Given the description of an element on the screen output the (x, y) to click on. 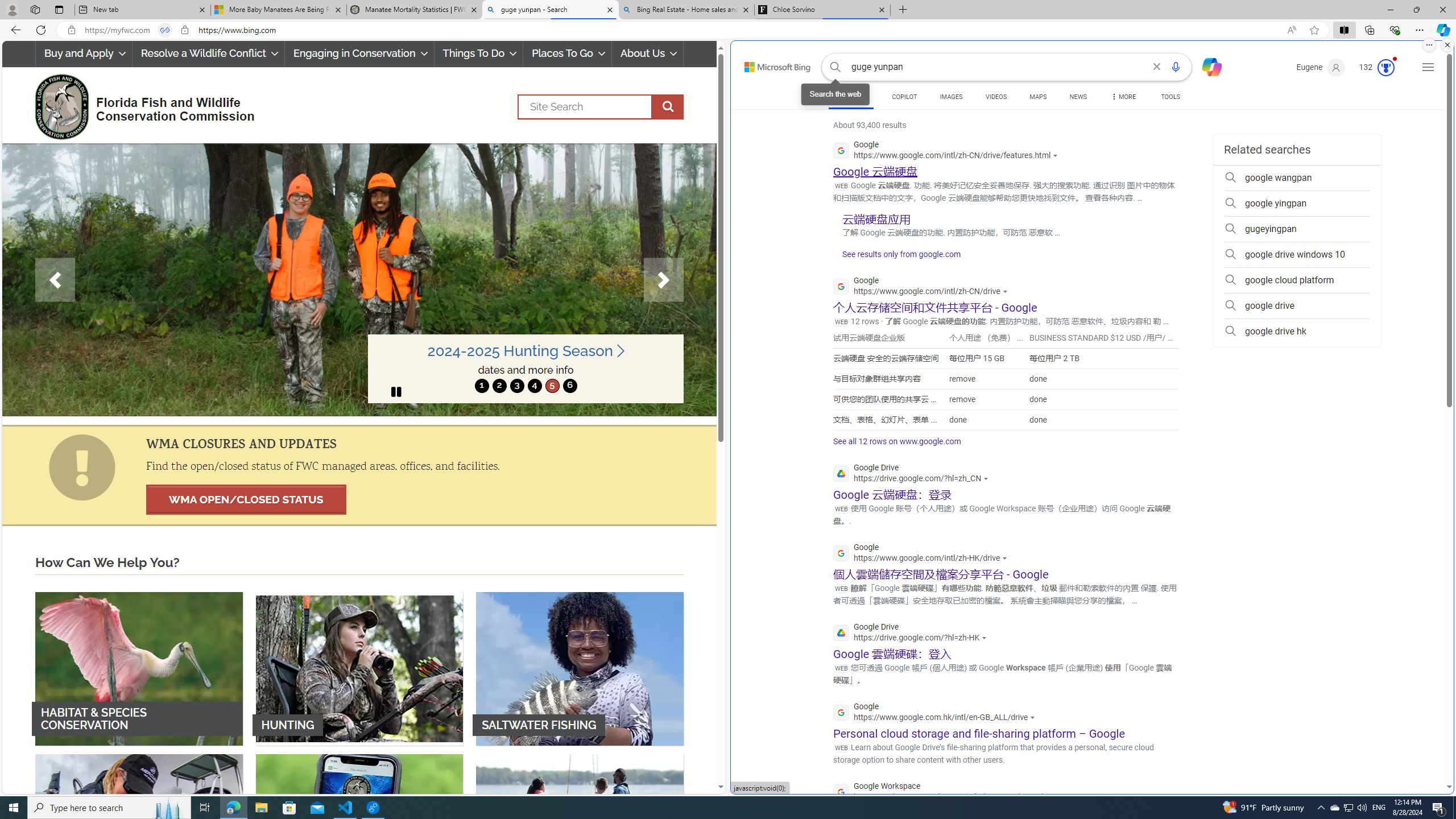
Search using voice (1174, 66)
Resolve a Wildlife Conflict (207, 53)
About Us (647, 53)
move to slide 6 (569, 385)
move to slide 5 (551, 385)
Tabs in split screen (164, 29)
move to slide 3 (516, 385)
COPILOT (903, 98)
Next (663, 279)
2 (499, 385)
google drive windows 10 (1297, 254)
